Given the description of an element on the screen output the (x, y) to click on. 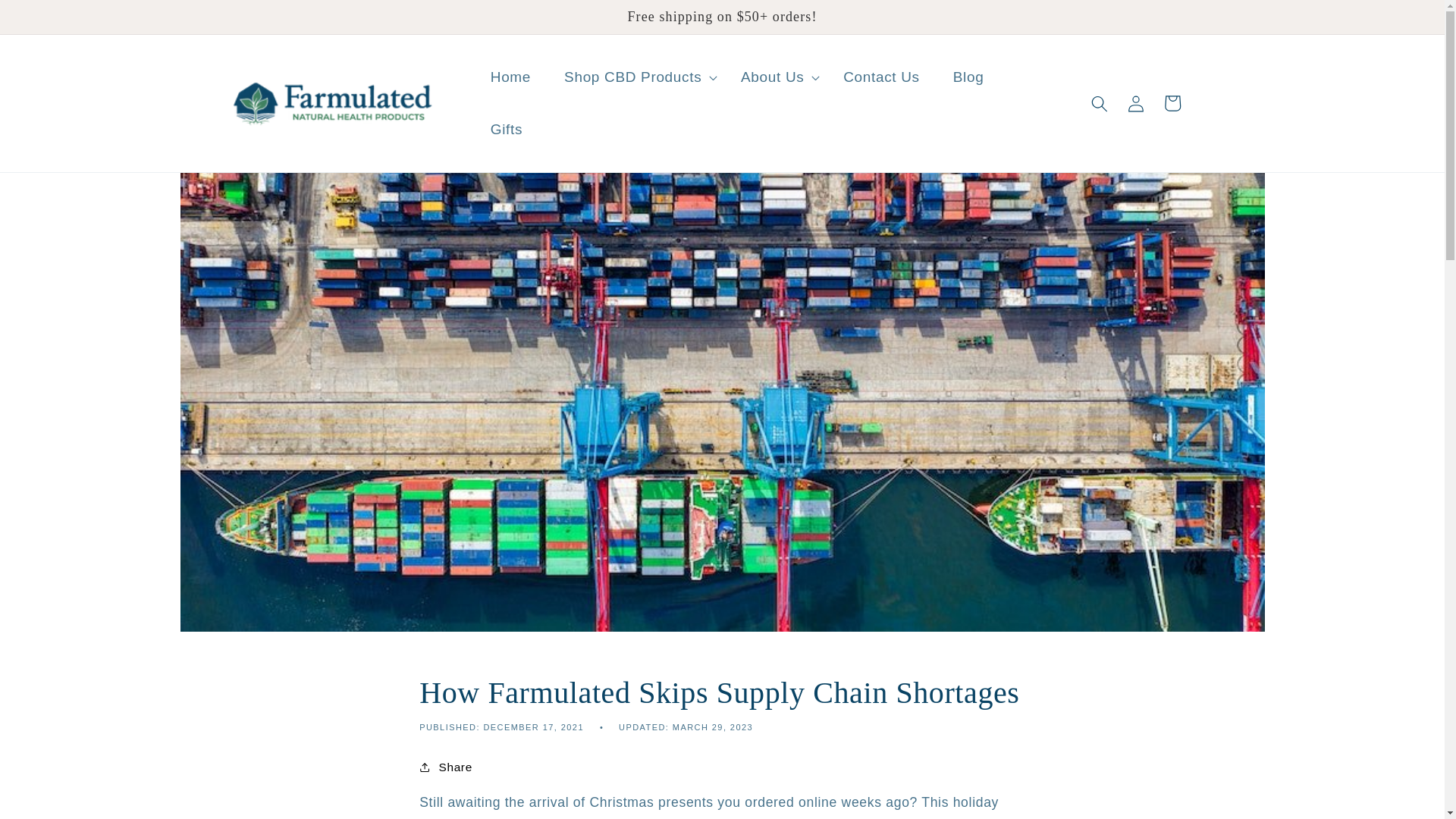
Home (510, 77)
Skip to content (50, 19)
Contact Us (881, 77)
Blog (968, 77)
